Given the description of an element on the screen output the (x, y) to click on. 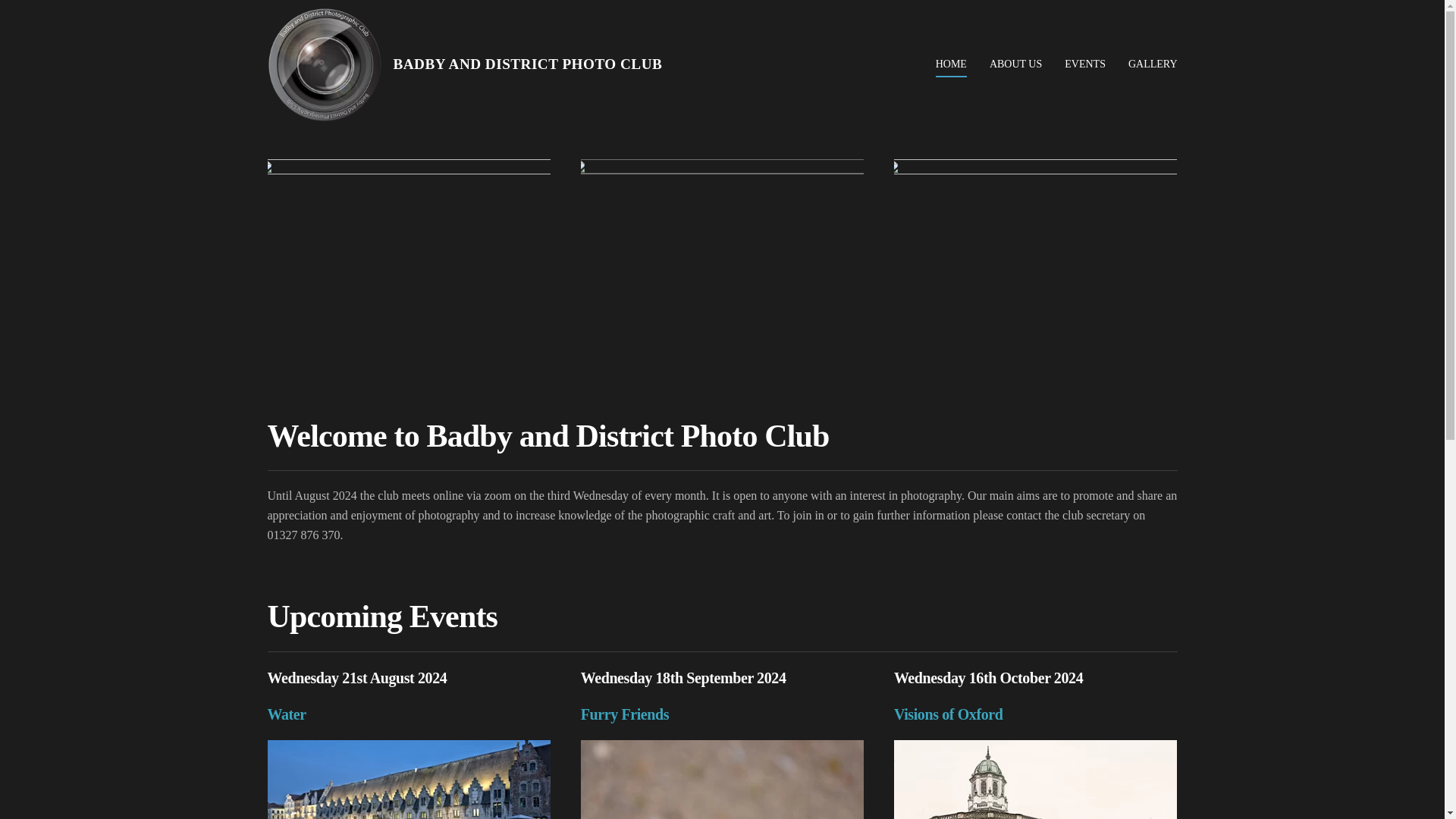
Visions of Oxford (948, 713)
Water (285, 713)
Furry Friends (624, 713)
